Given the description of an element on the screen output the (x, y) to click on. 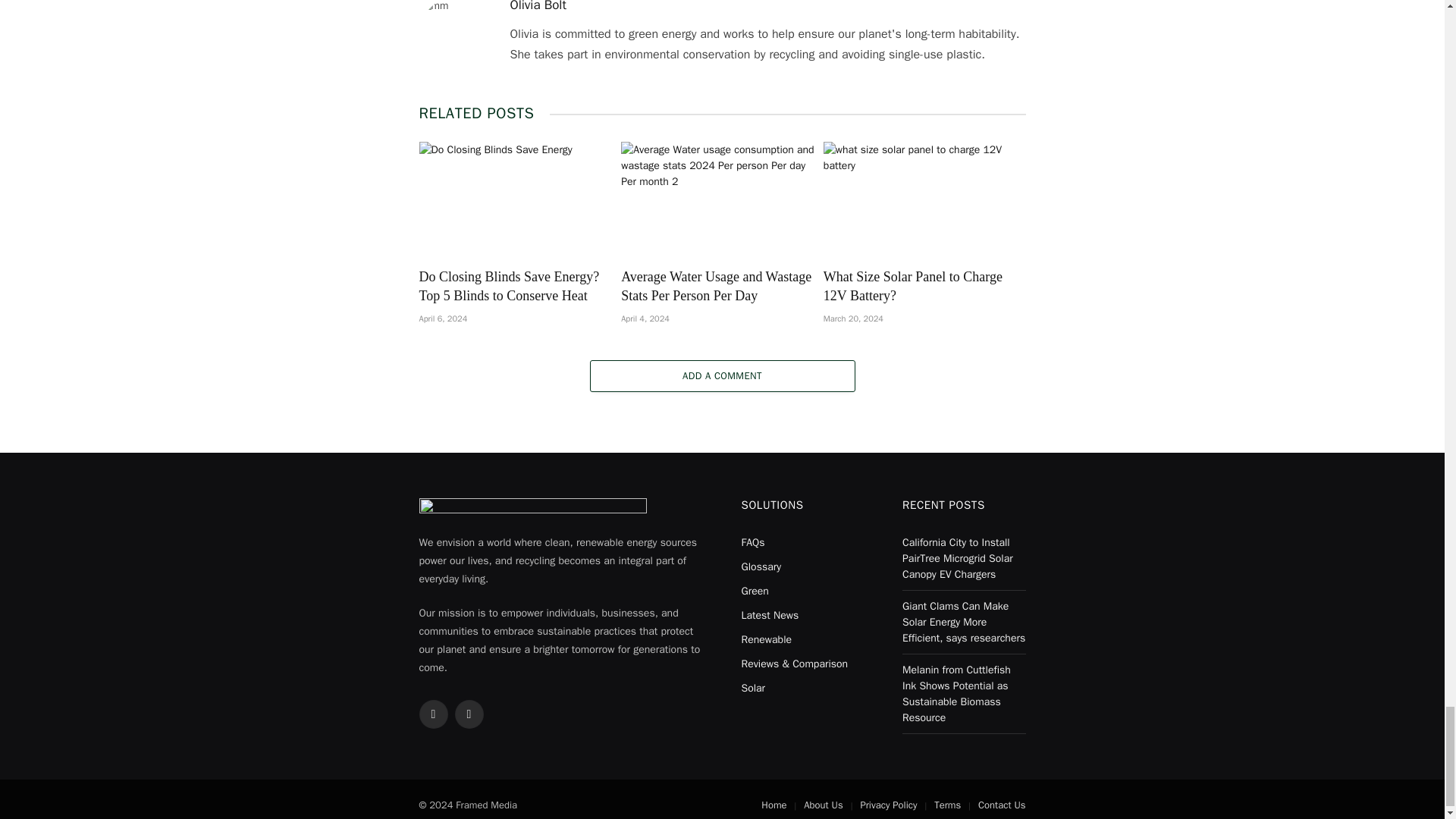
What Size Solar Panel to Charge 12V Battery? (925, 198)
Do Closing Blinds Save Energy? Top 5 Blinds to Conserve Heat (520, 198)
Posts by Olivia Bolt (537, 6)
Average Water Usage and Wastage Stats Per Person Per Day (722, 198)
